Given the description of an element on the screen output the (x, y) to click on. 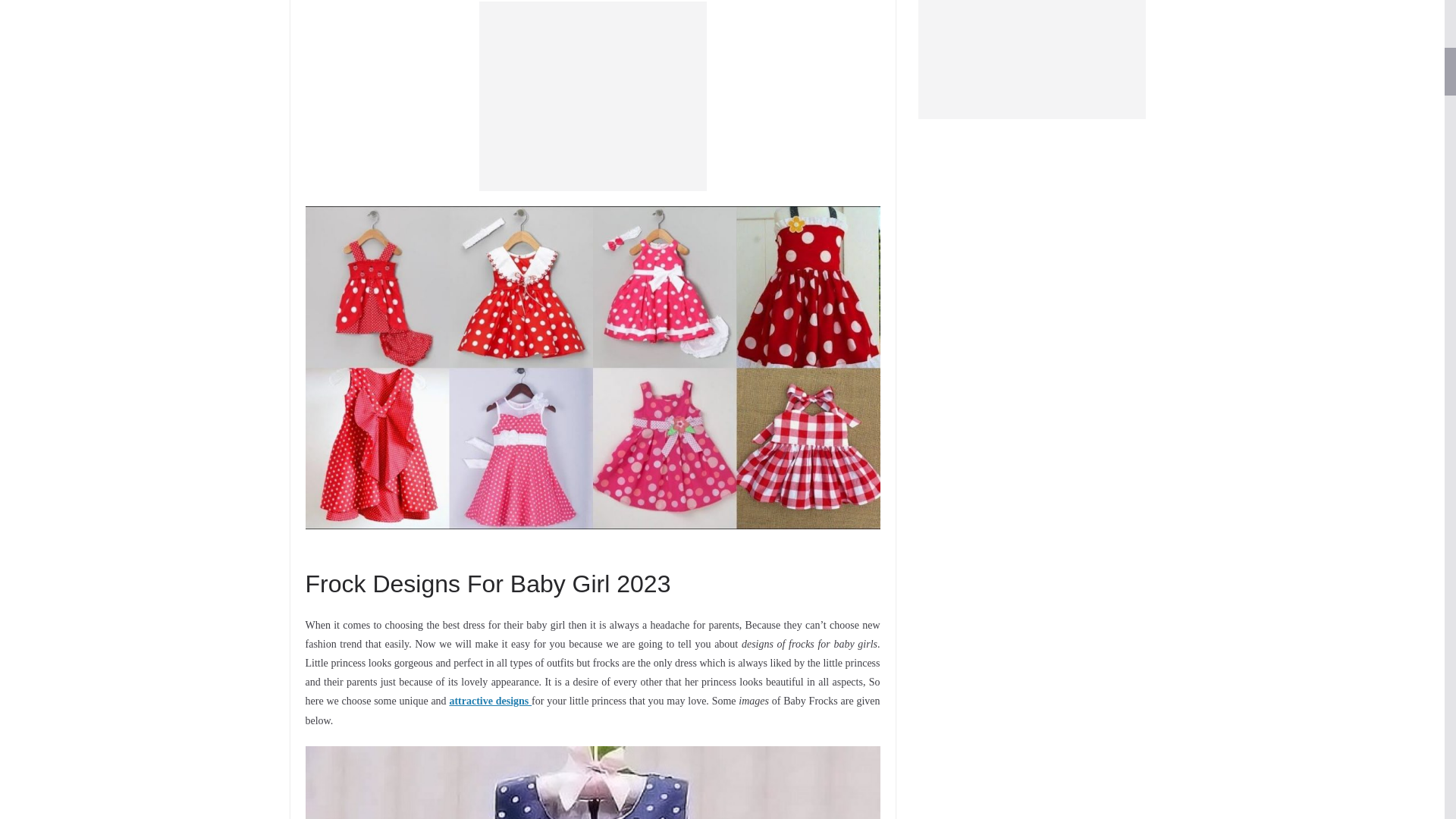
attractive designs (489, 700)
